Given the description of an element on the screen output the (x, y) to click on. 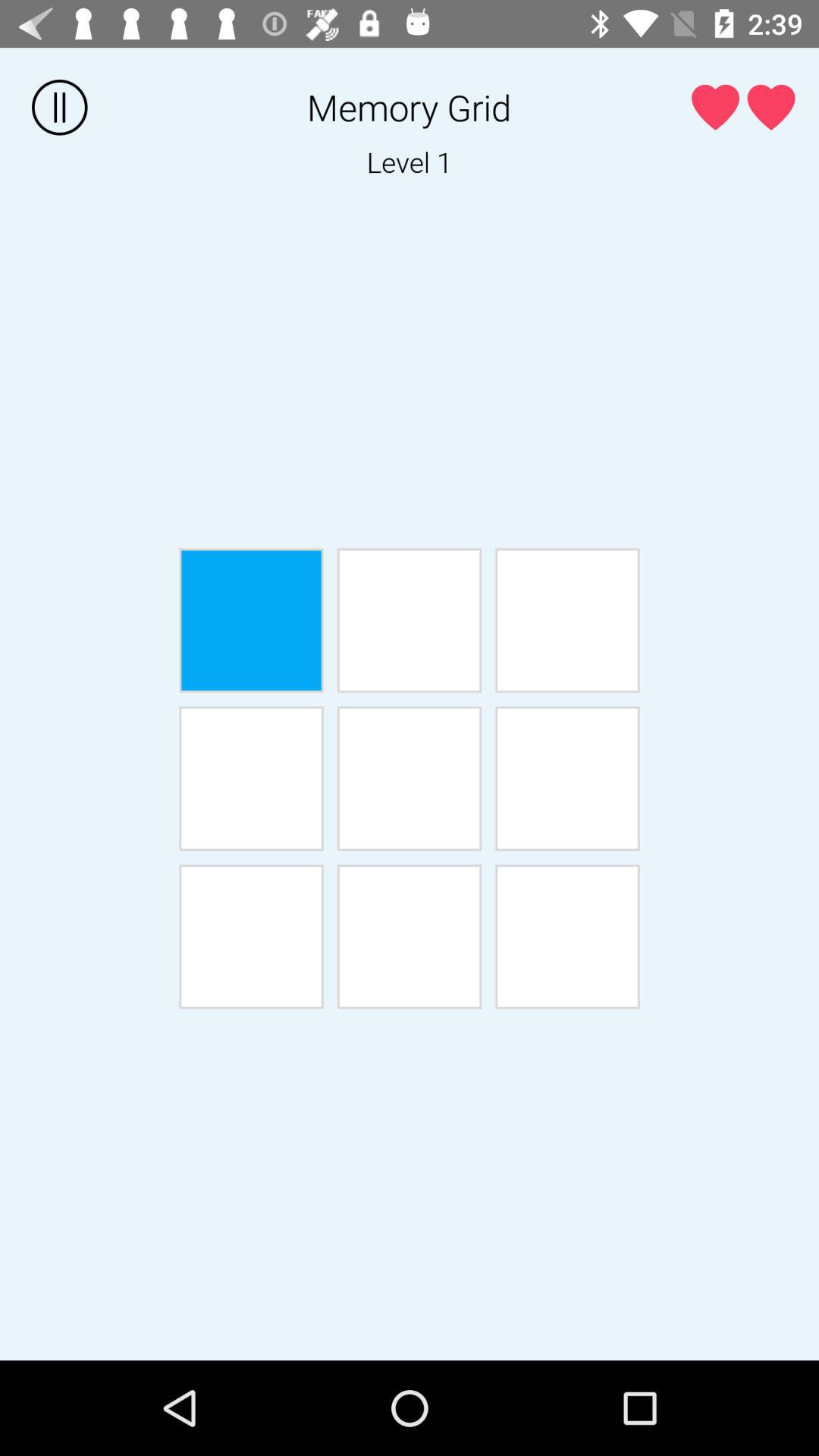
turn off item below level 1 (251, 620)
